Given the description of an element on the screen output the (x, y) to click on. 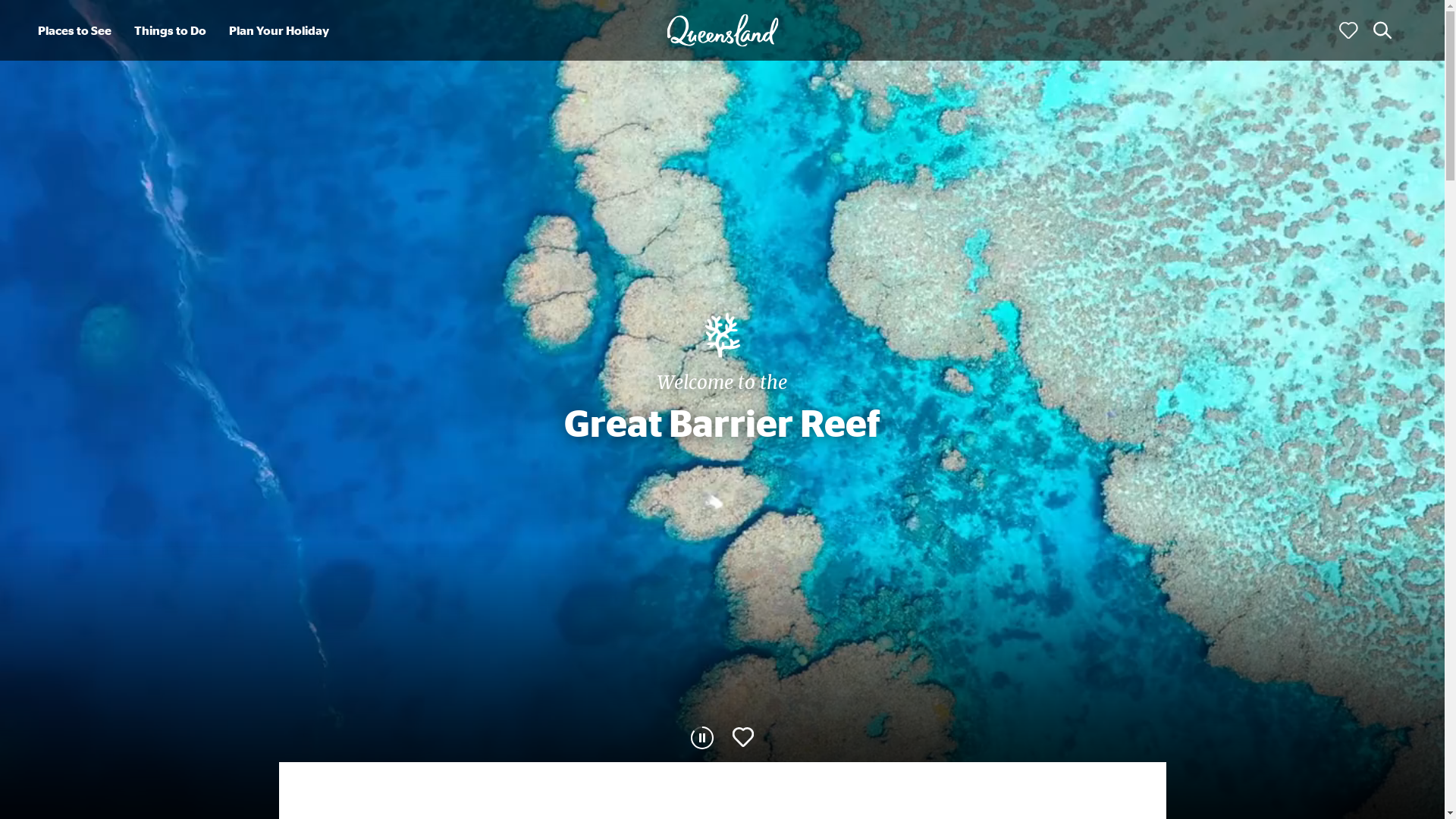
Great Barrier Reef Element type: hover (722, 335)
Queensland Element type: hover (722, 29)
Places to See Element type: text (74, 30)
Plan Your Holiday Element type: text (279, 30)
Things to Do Element type: text (170, 30)
